Given the description of an element on the screen output the (x, y) to click on. 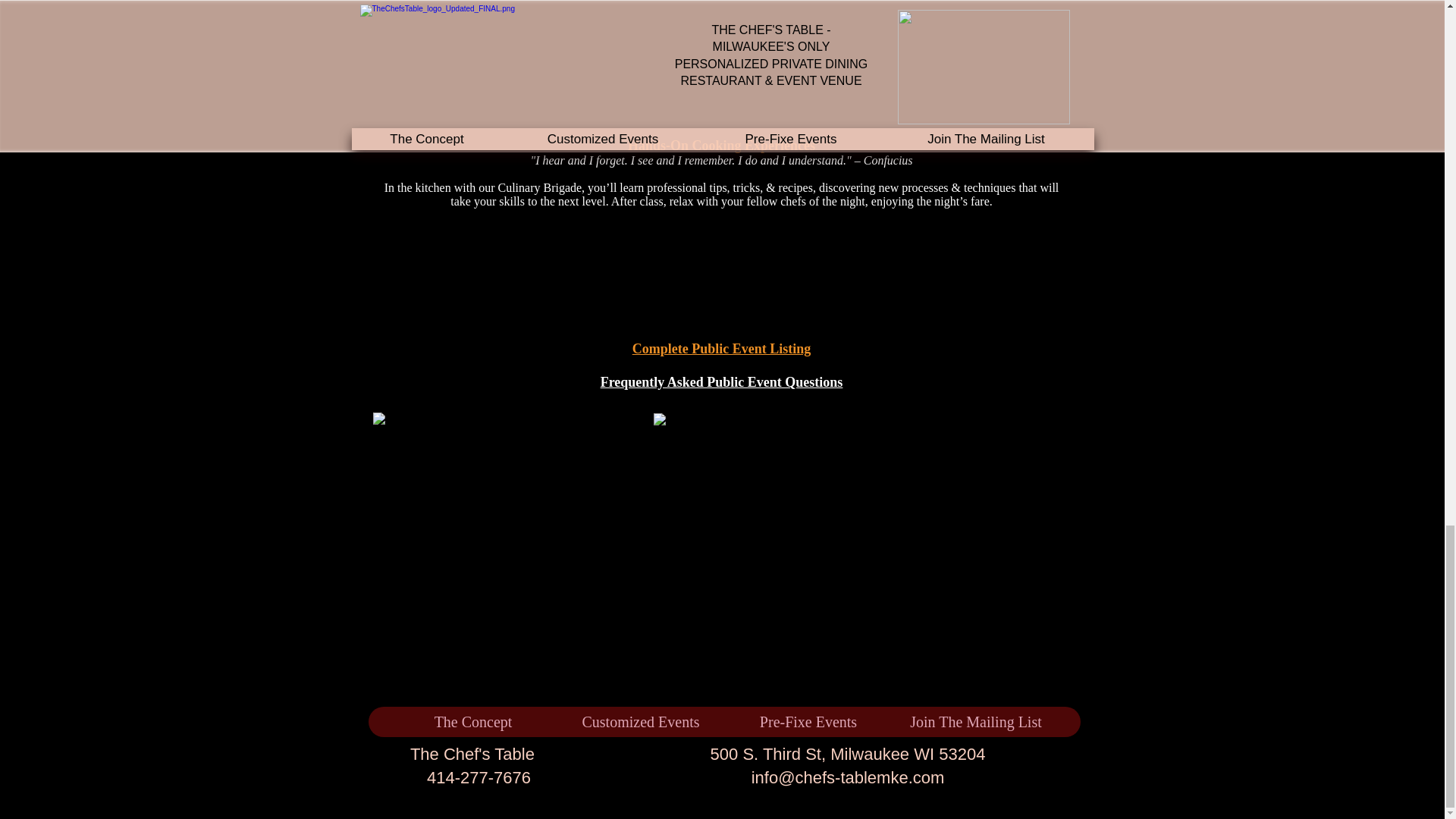
414-277-7676 (478, 777)
The Concept (472, 721)
Complete Public Event Listing (720, 348)
500 S. Third St, Milwaukee WI 53204 (847, 753)
Join The Mailing List (975, 721)
Pre-Fixe Events (807, 721)
Customized Events (639, 721)
Frequently Asked Public Event Questions (721, 381)
